Given the description of an element on the screen output the (x, y) to click on. 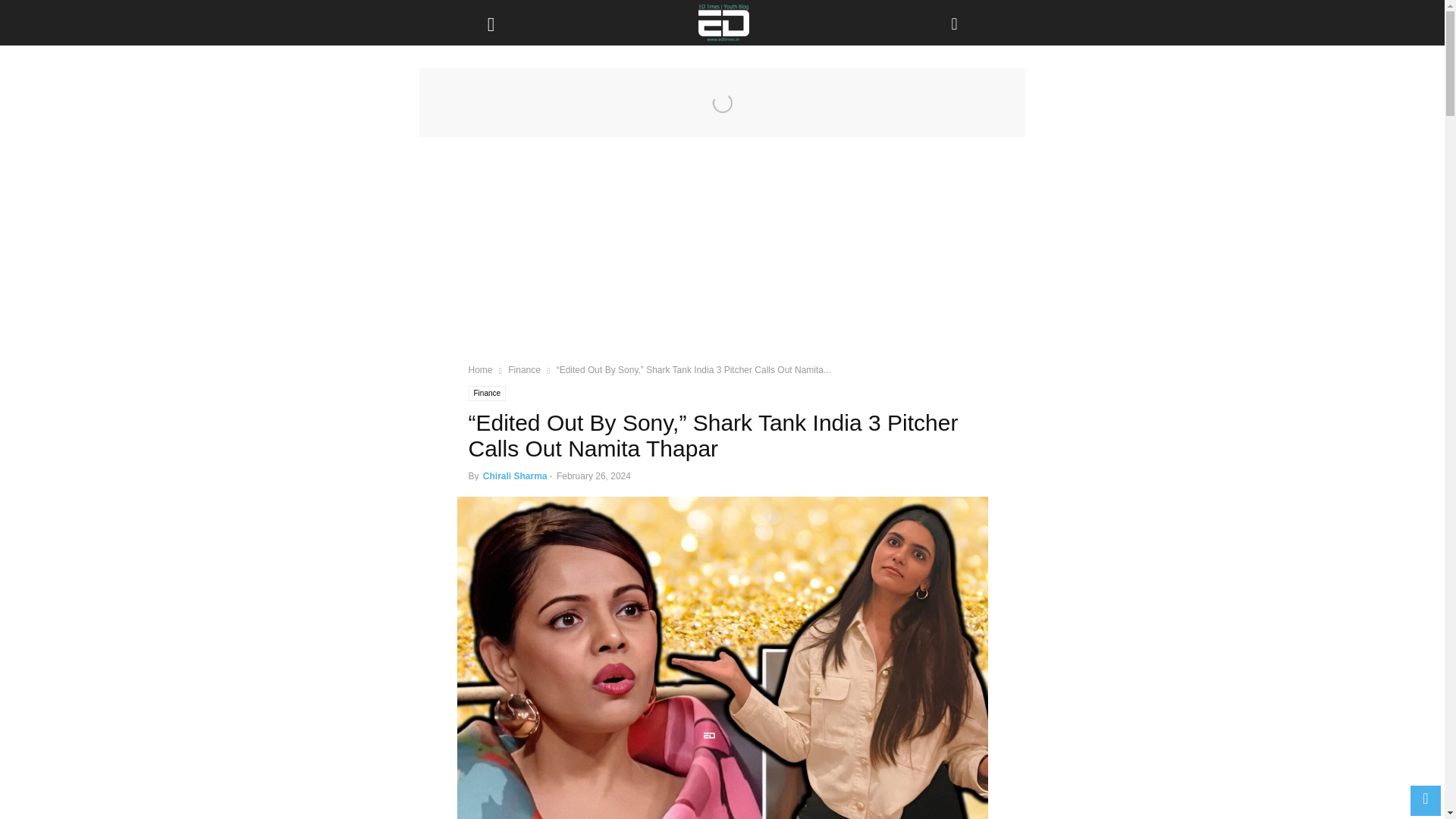
Chirali Sharma (515, 475)
Home (480, 369)
3rd party ad content (721, 258)
View all posts in Finance (524, 369)
Finance (487, 393)
Finance (524, 369)
